Given the description of an element on the screen output the (x, y) to click on. 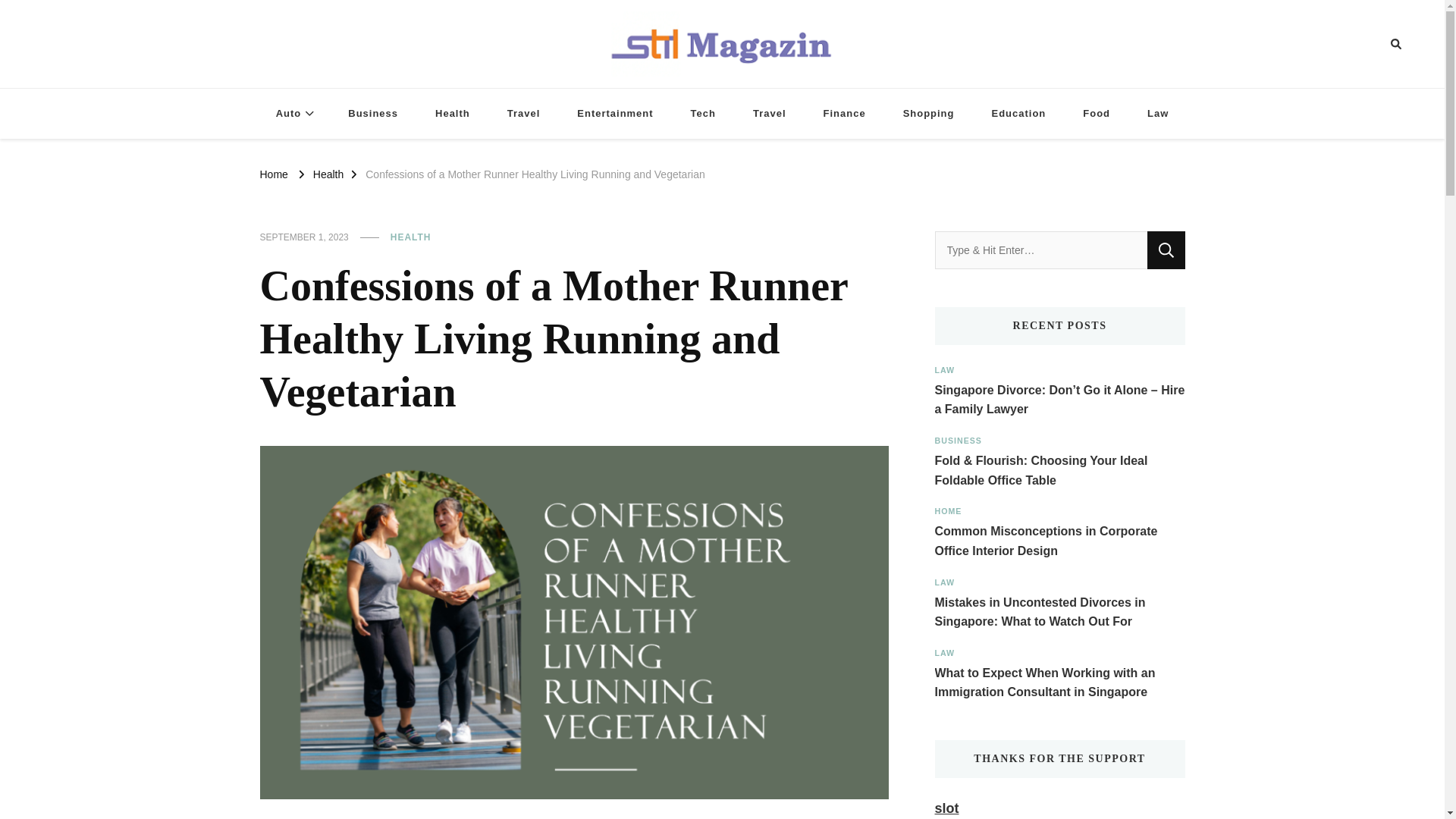
Food (1095, 113)
Entertainment (614, 113)
Shopping (928, 113)
Tech (703, 113)
Search (1166, 249)
SEPTEMBER 1, 2023 (303, 237)
Business (372, 113)
Law (1158, 113)
HEALTH (410, 237)
Auto (294, 113)
